Given the description of an element on the screen output the (x, y) to click on. 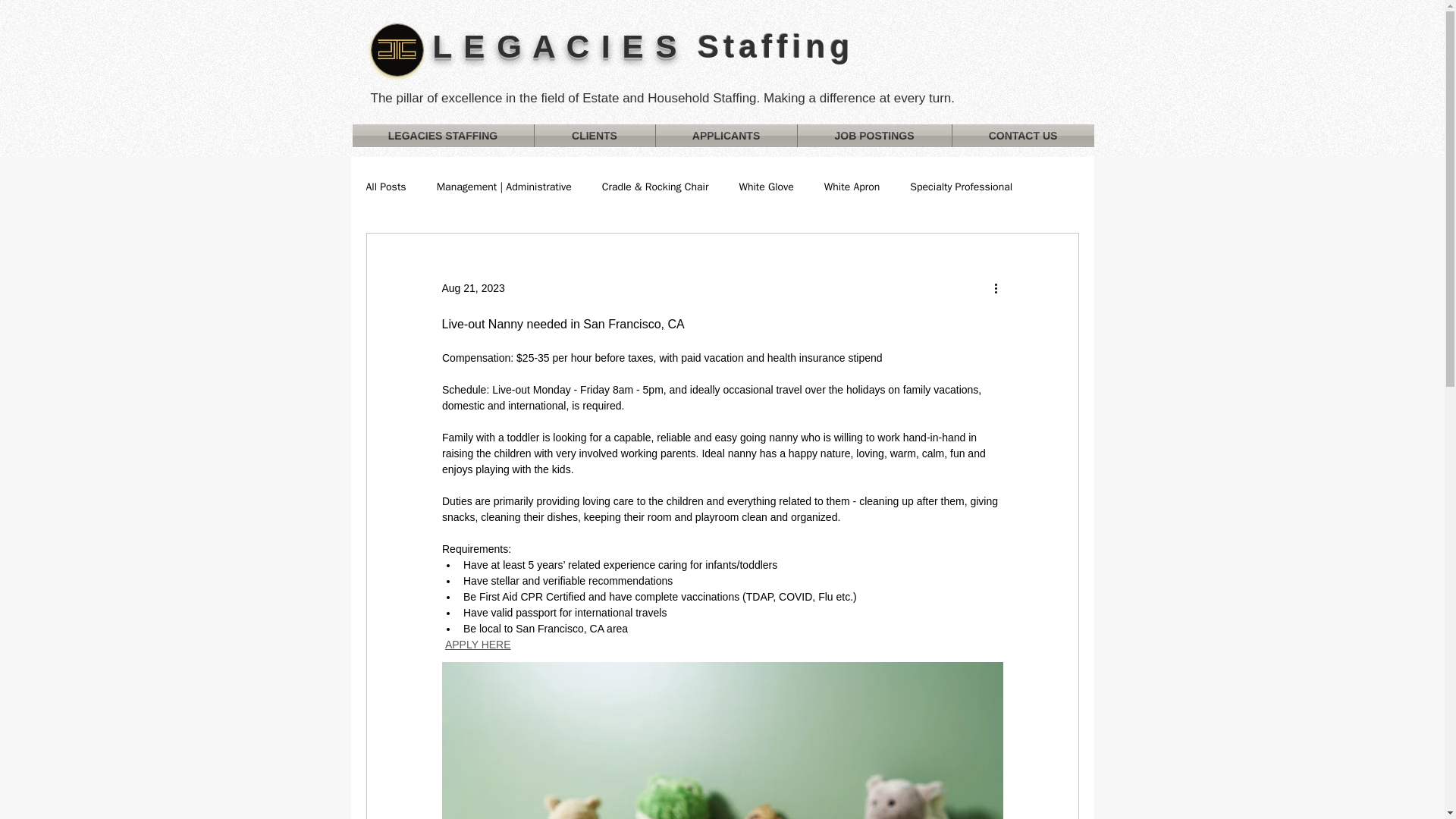
Aug 21, 2023 (472, 287)
L E G A C I E S  Staffing (642, 46)
JOB POSTINGS (874, 135)
APPLY H (465, 644)
Specialty Professional (960, 187)
White Glove (765, 187)
White Apron (852, 187)
CONTACT US (1023, 135)
All Posts (385, 187)
LEGACIES STAFFING (442, 135)
